Given the description of an element on the screen output the (x, y) to click on. 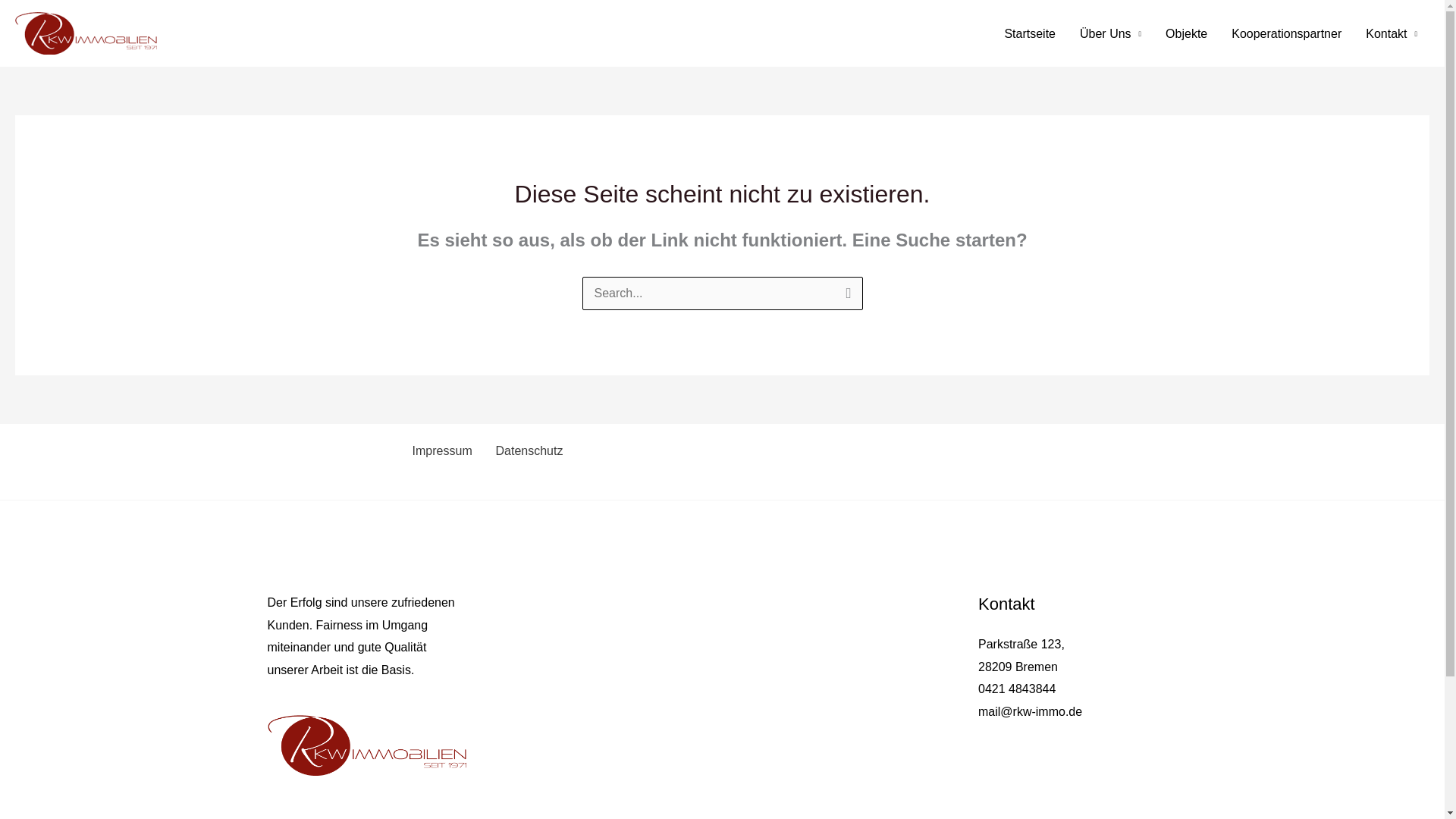
0421 4843844 (1016, 688)
28209 Bremen (1018, 666)
Datenschutz (526, 451)
Kooperationspartner (1287, 32)
Startseite (1029, 32)
Impressum (440, 451)
Objekte (1186, 32)
Kontakt (1391, 32)
